Given the description of an element on the screen output the (x, y) to click on. 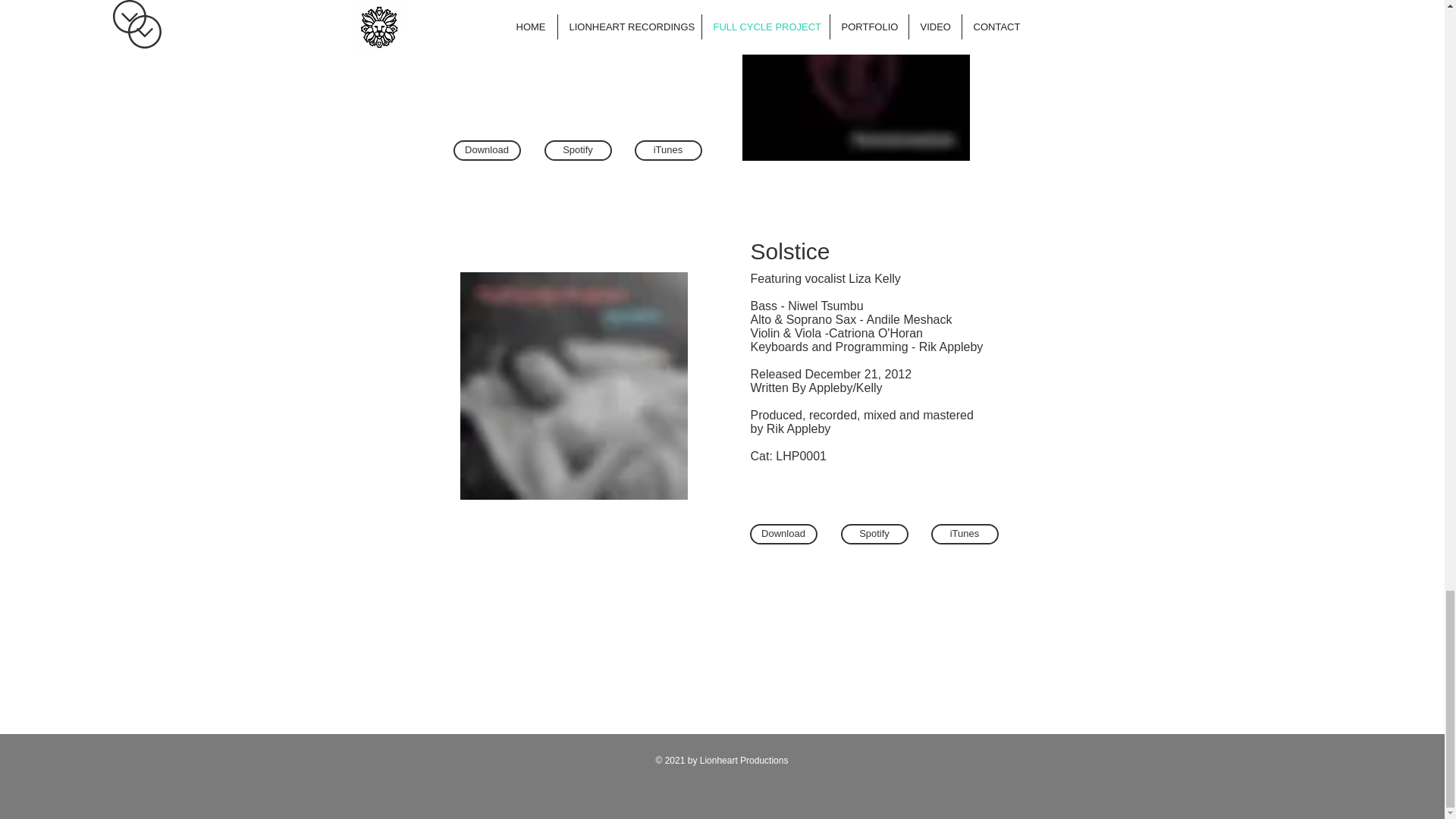
Spotify (873, 534)
Download (782, 534)
Spotify (577, 150)
Download (486, 150)
iTunes (667, 150)
iTunes (964, 534)
